Given the description of an element on the screen output the (x, y) to click on. 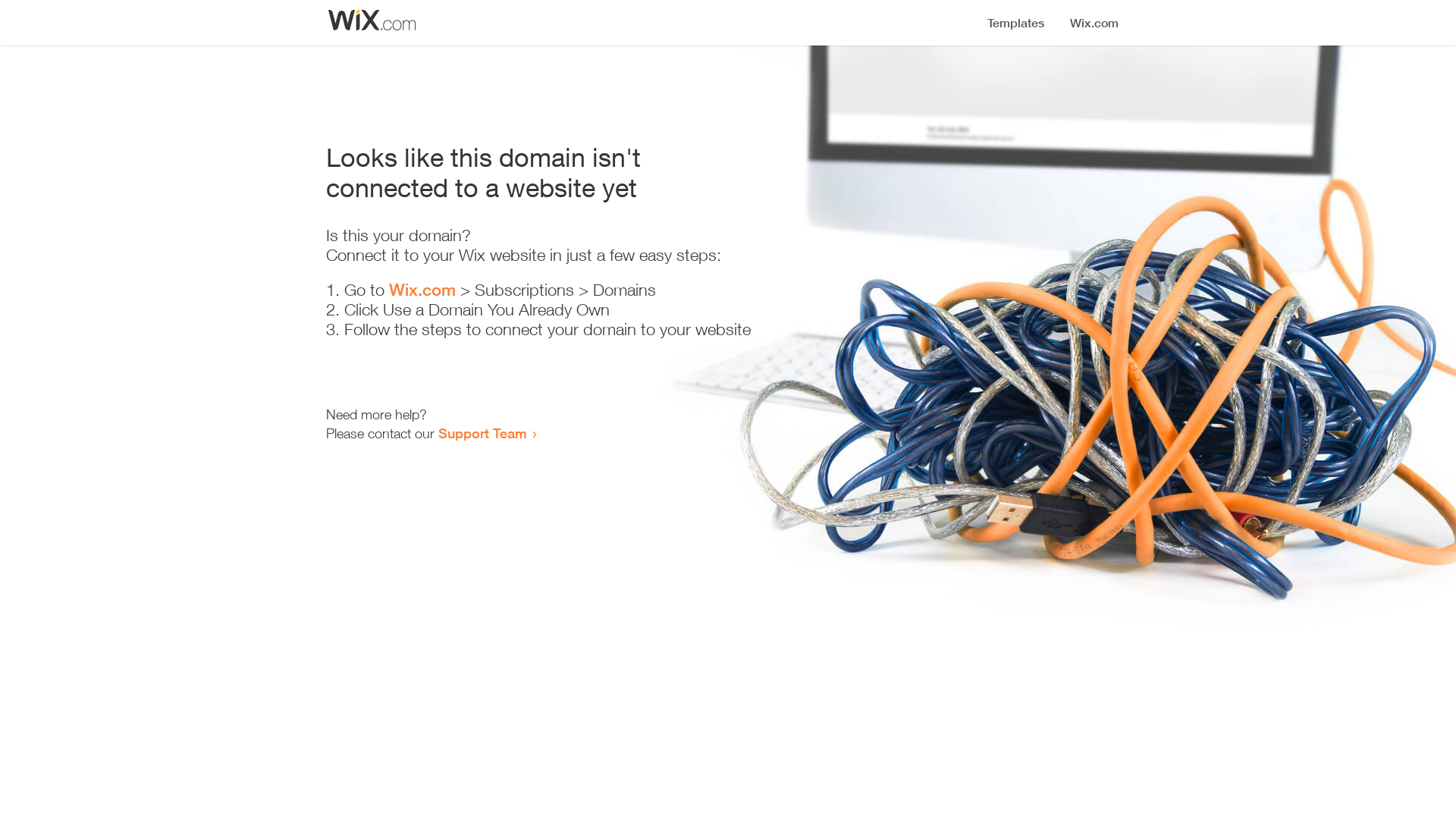
Support Team Element type: text (482, 432)
Wix.com Element type: text (422, 289)
